Given the description of an element on the screen output the (x, y) to click on. 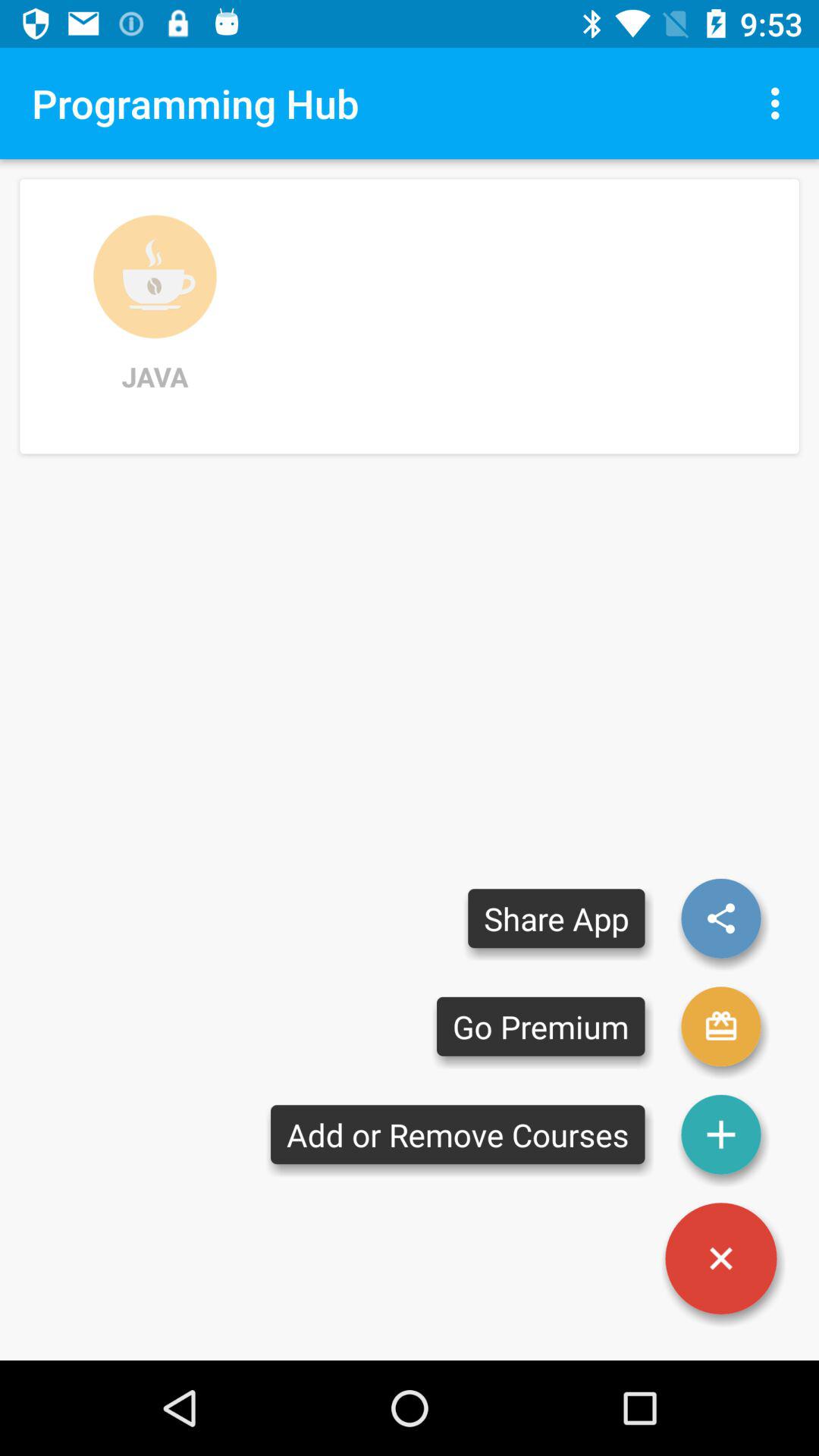
press share app item (556, 918)
